Given the description of an element on the screen output the (x, y) to click on. 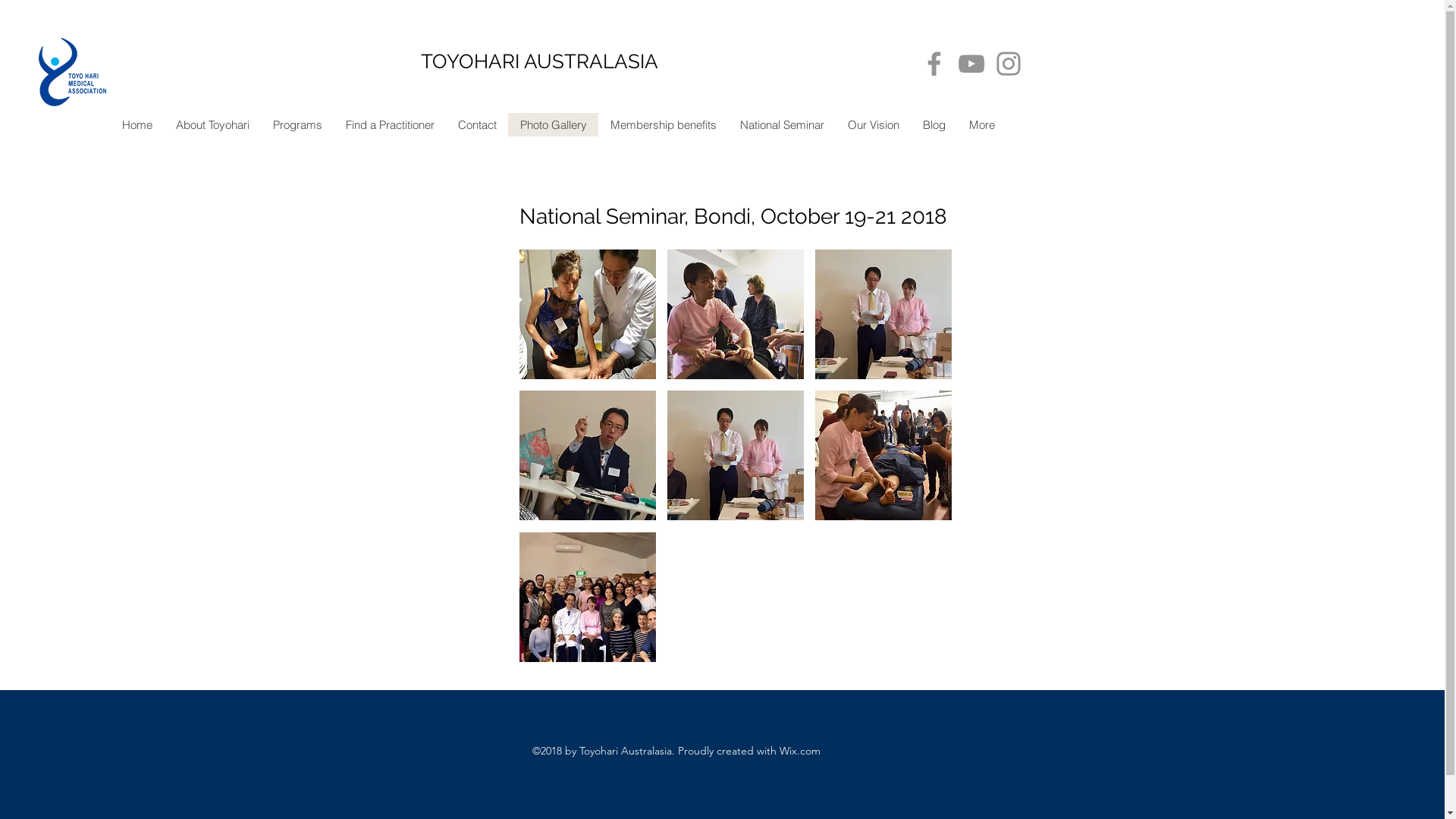
Home Element type: text (136, 124)
Membership benefits Element type: text (663, 124)
Programs Element type: text (296, 124)
Find a Practitioner Element type: text (389, 124)
Contact Element type: text (476, 124)
About Toyohari Element type: text (211, 124)
Our Vision Element type: text (872, 124)
TOYOHARI AUSTRALASIA Element type: text (539, 61)
Blog Element type: text (933, 124)
National Seminar Element type: text (781, 124)
Photo Gallery Element type: text (553, 124)
